Given the description of an element on the screen output the (x, y) to click on. 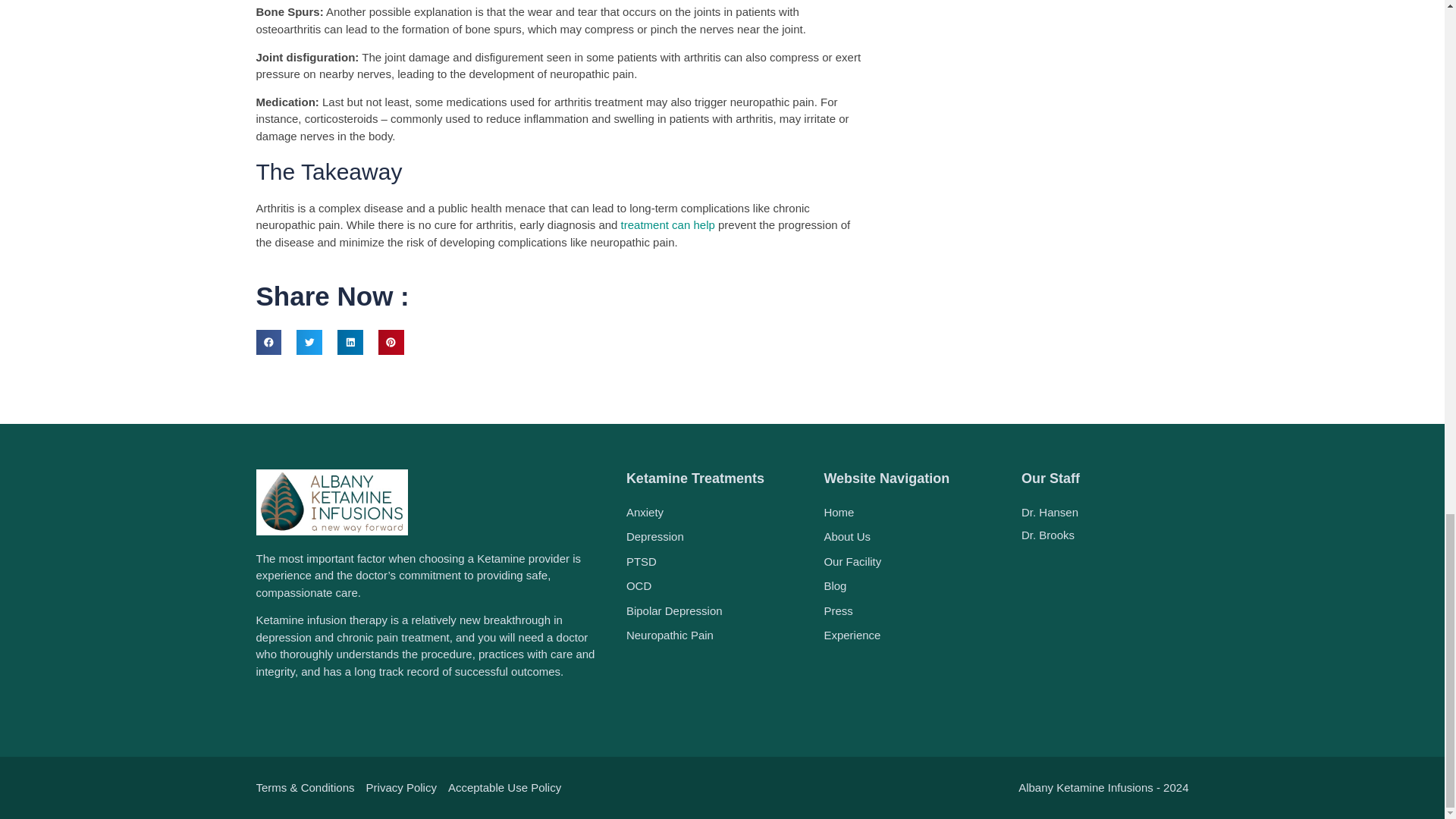
Albany Ketamine Infusions (1105, 635)
